Given the description of an element on the screen output the (x, y) to click on. 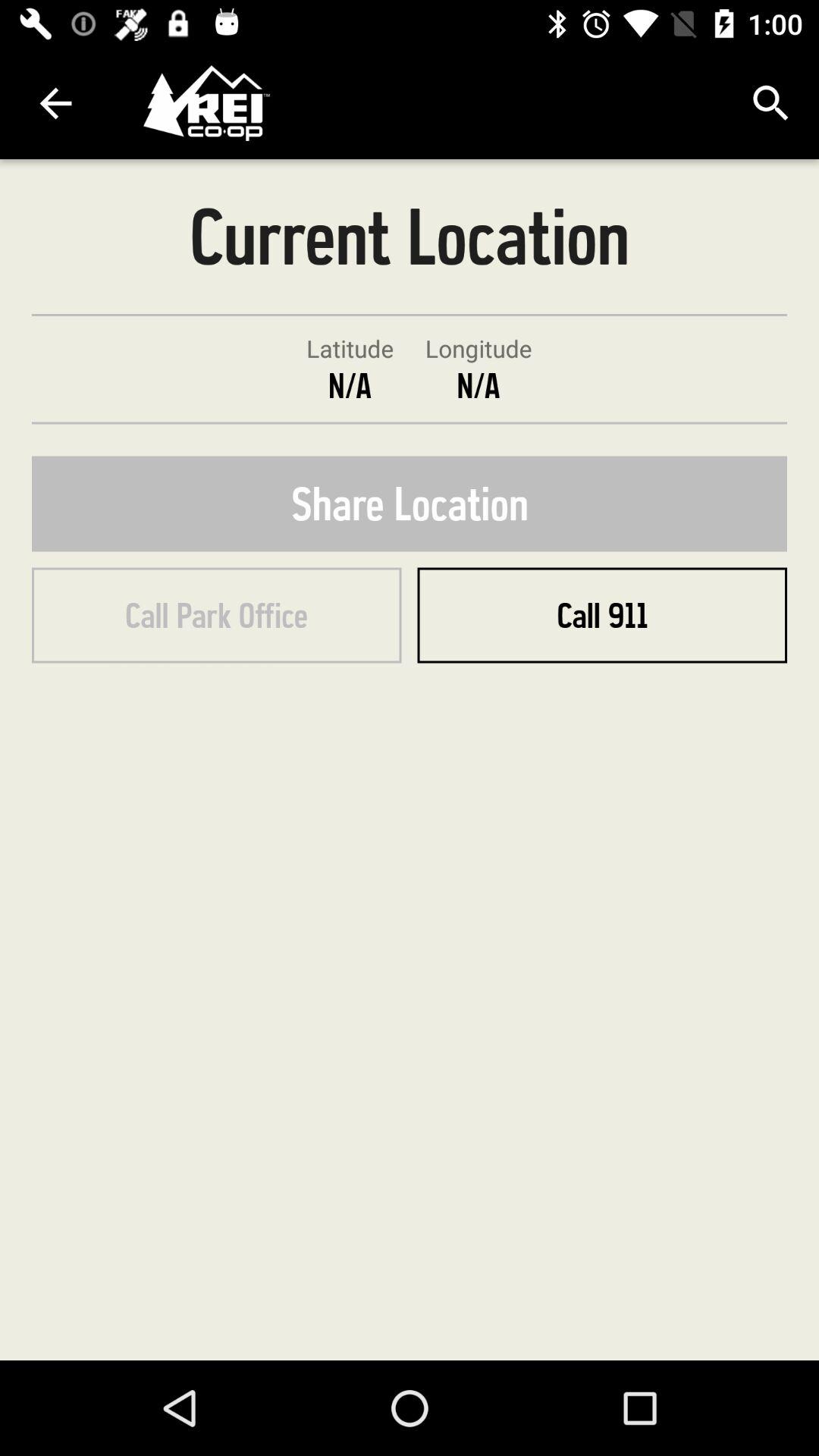
turn off the item above the current location item (771, 103)
